Given the description of an element on the screen output the (x, y) to click on. 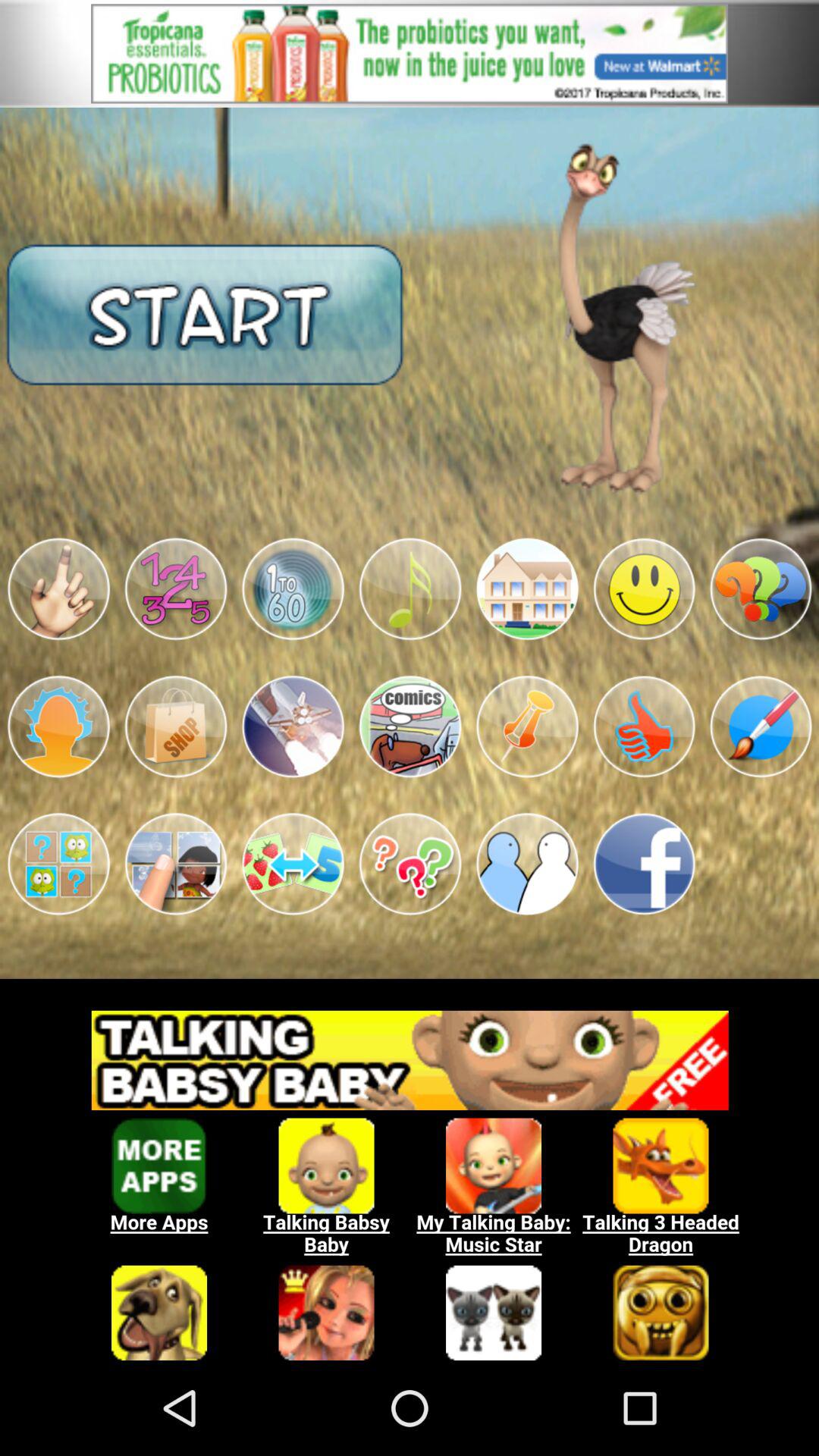
select the music (409, 589)
